Given the description of an element on the screen output the (x, y) to click on. 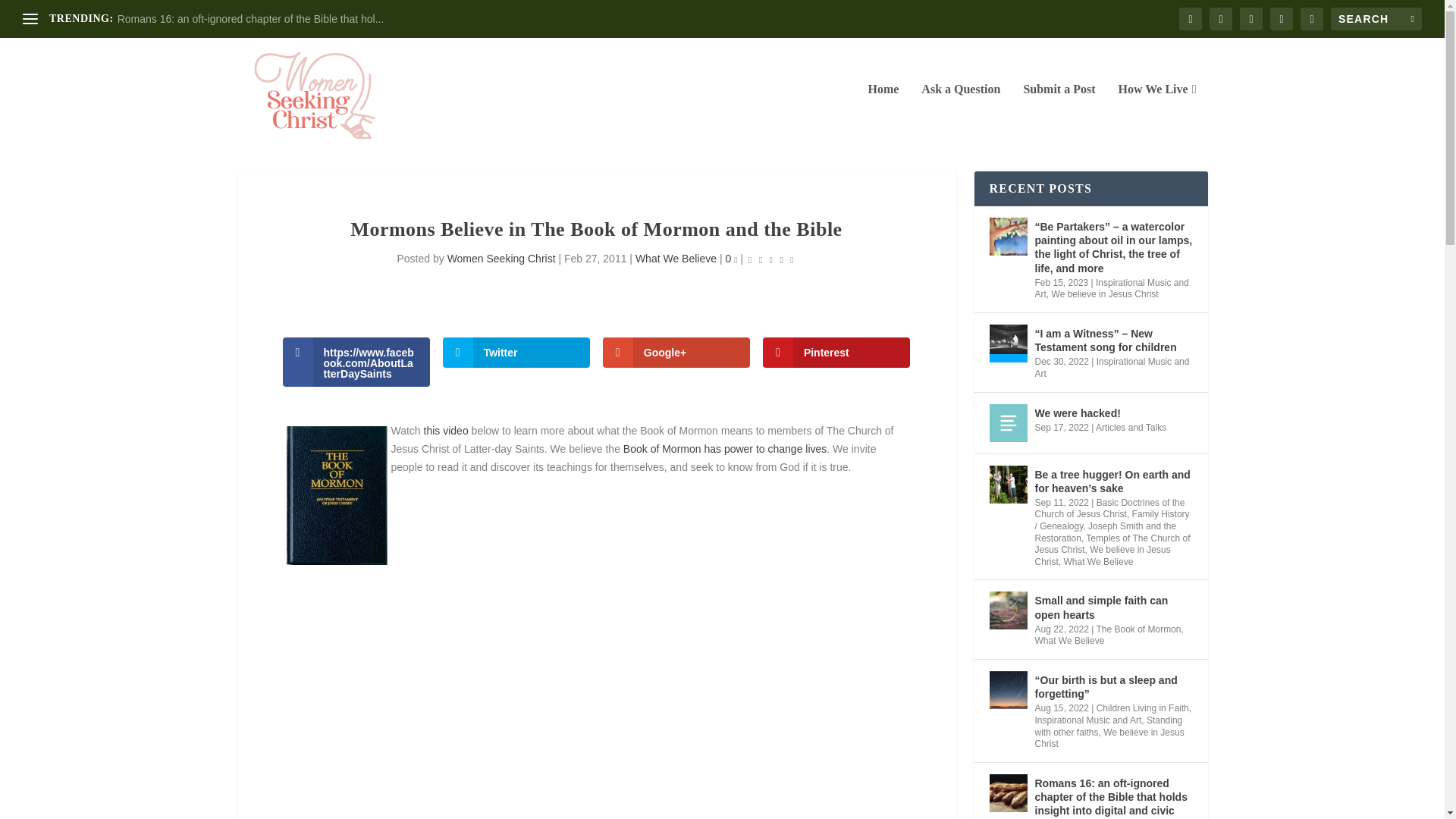
Rating: 0.00 (770, 259)
Posts by Women Seeking Christ (501, 258)
Search for: (1376, 18)
book-of-mormon (336, 495)
comment count (734, 260)
Romans 16: an oft-ignored chapter of the Bible that hol... (250, 19)
